Given the description of an element on the screen output the (x, y) to click on. 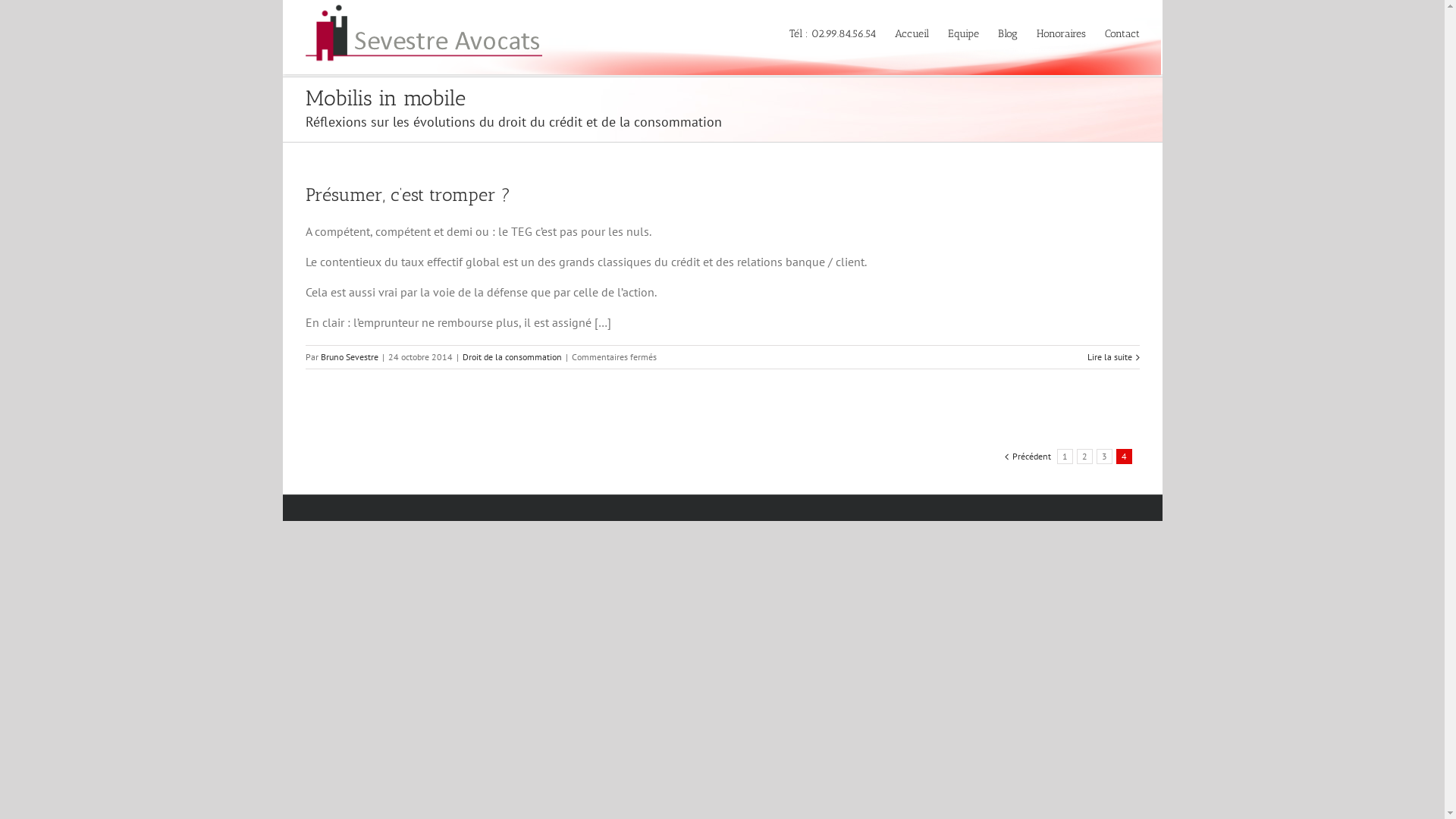
Honoraires Element type: text (1060, 32)
Contact Element type: text (1121, 32)
Blog Element type: text (1007, 32)
3 Element type: text (1104, 456)
2 Element type: text (1084, 456)
Droit de la consommation Element type: text (511, 356)
Equipe Element type: text (963, 32)
Lire la suite Element type: text (1109, 356)
1 Element type: text (1065, 456)
Bruno Sevestre Element type: text (348, 356)
Accueil Element type: text (911, 32)
